Given the description of an element on the screen output the (x, y) to click on. 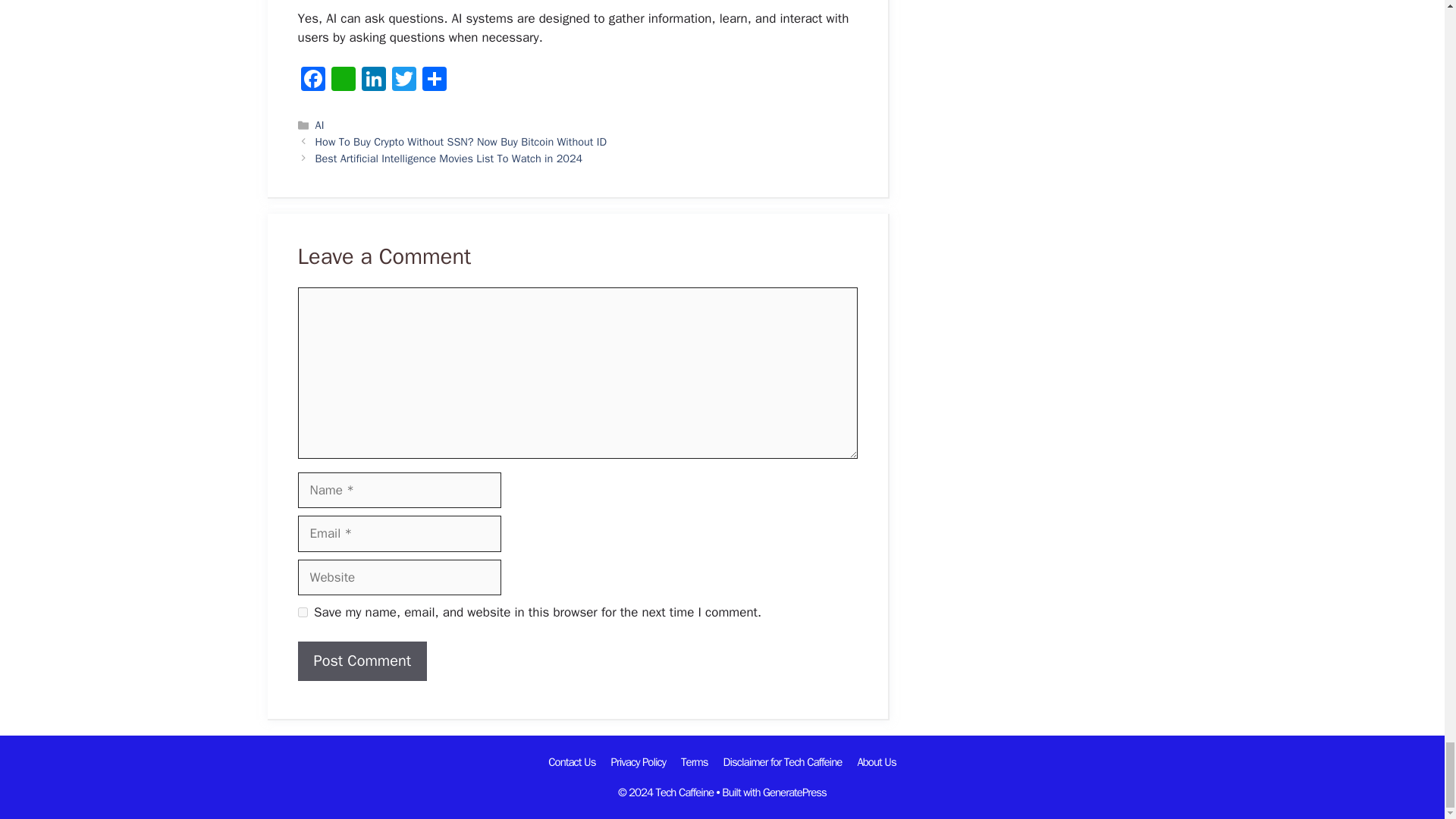
Post Comment (361, 660)
yes (302, 612)
